Given the description of an element on the screen output the (x, y) to click on. 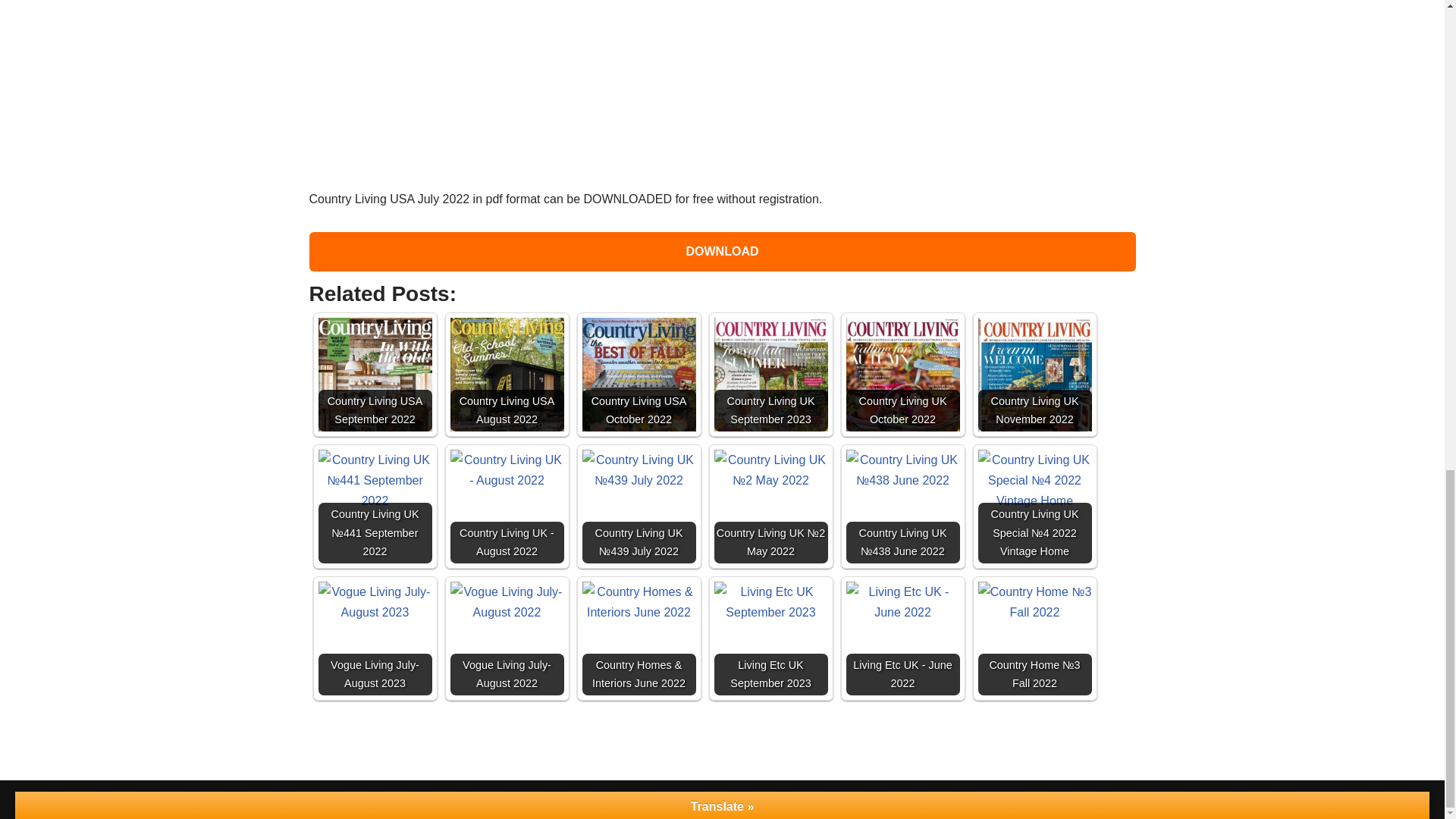
Country Living UK - August 2022 (506, 469)
